Given the description of an element on the screen output the (x, y) to click on. 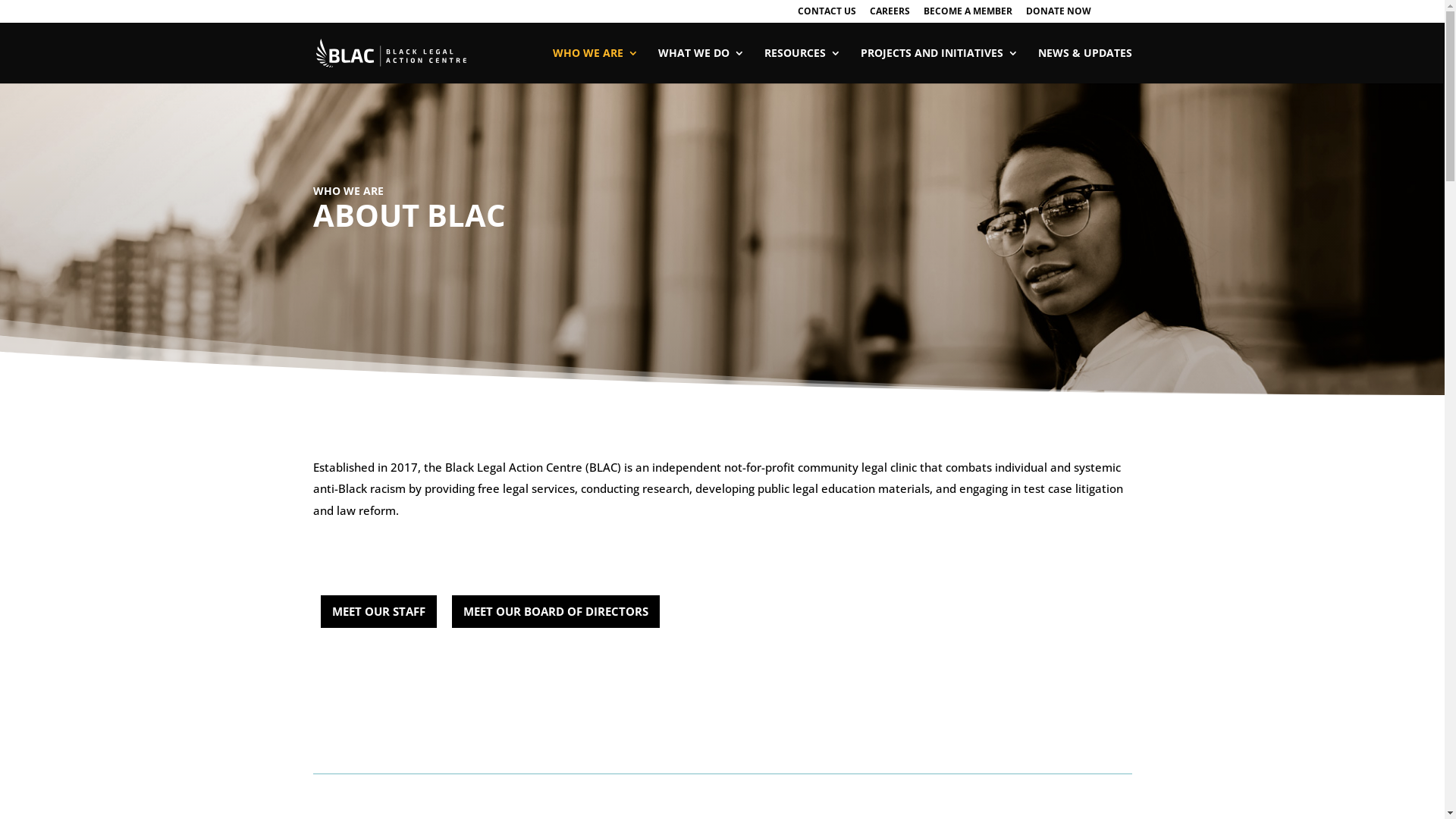
PROJECTS AND INITIATIVES Element type: text (938, 65)
CAREERS Element type: text (889, 14)
RESOURCES Element type: text (802, 65)
DONATE NOW Element type: text (1057, 14)
Skip to content Element type: text (0, 0)
BECOME A MEMBER Element type: text (967, 14)
MEET OUR STAFF Element type: text (378, 611)
WHO WE ARE Element type: text (594, 65)
MEET OUR BOARD OF DIRECTORS Element type: text (555, 611)
WHAT WE DO Element type: text (701, 65)
CONTACT US Element type: text (826, 14)
NEWS & UPDATES Element type: text (1084, 65)
